Given the description of an element on the screen output the (x, y) to click on. 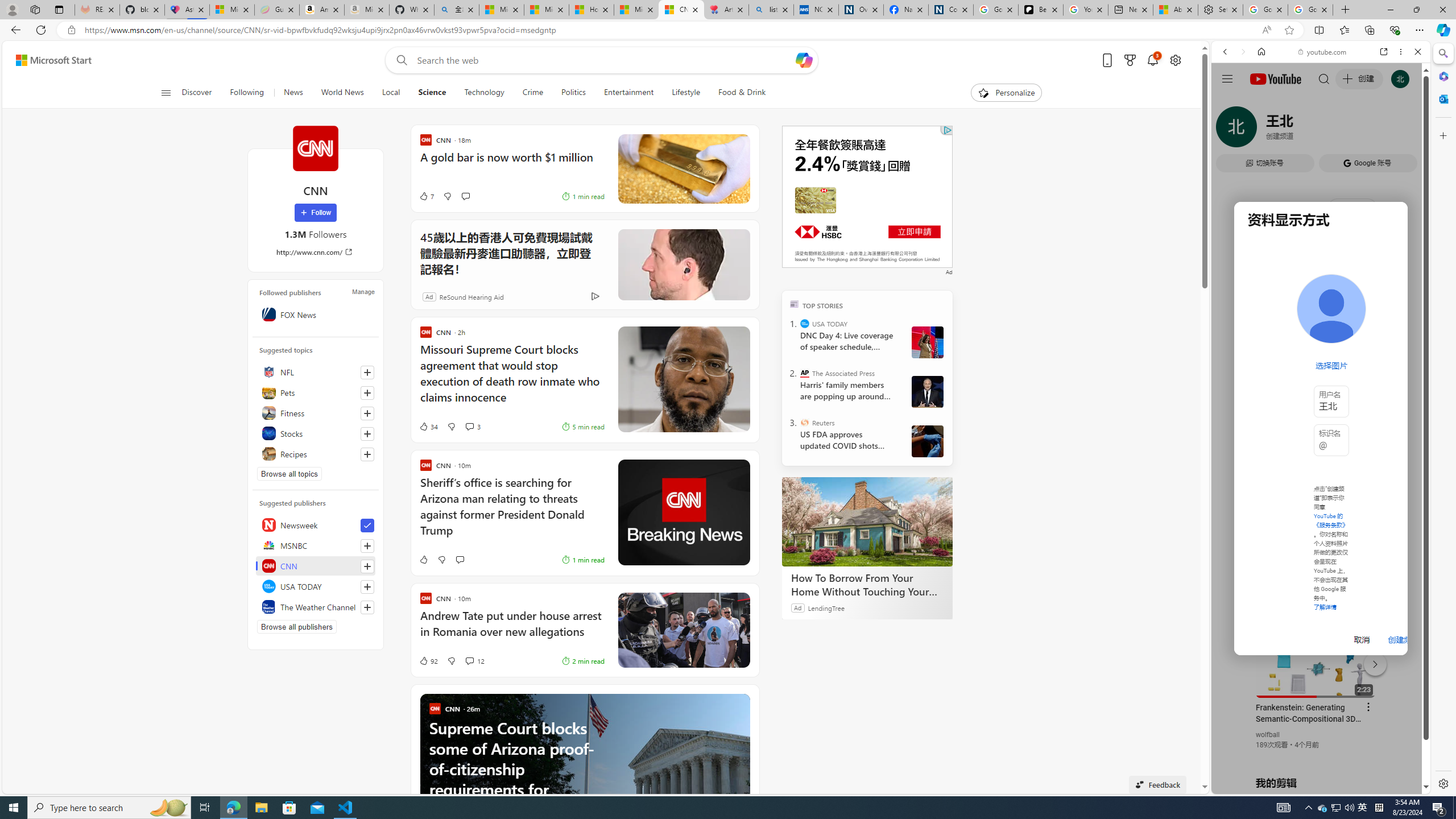
92 Like (427, 661)
Ad Choice (595, 296)
TOP (794, 302)
Close Customize pane (1442, 135)
Pets (315, 392)
Side bar (1443, 418)
Food & Drink (737, 92)
